Given the description of an element on the screen output the (x, y) to click on. 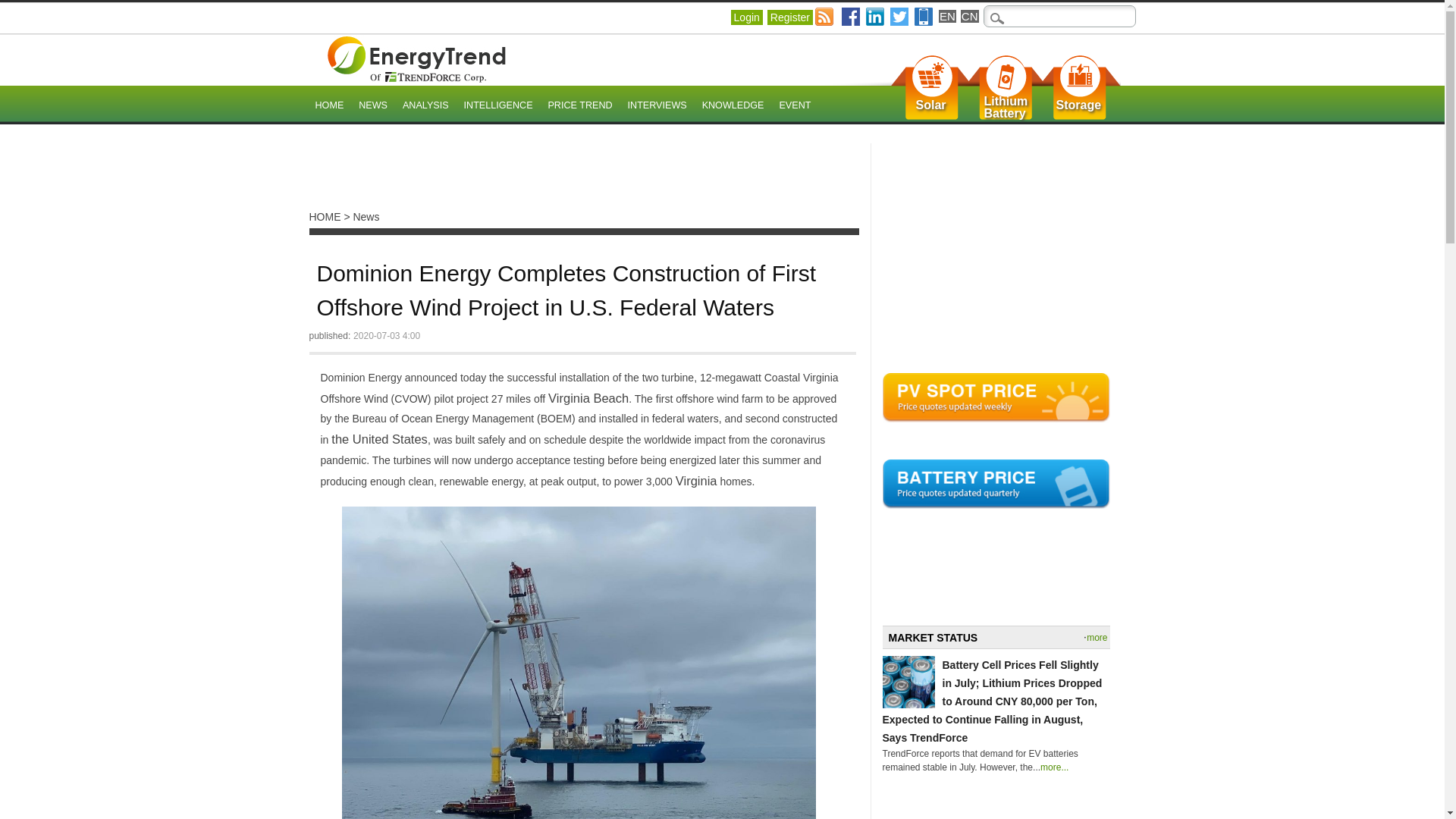
Register (789, 17)
Solar (930, 105)
linkedin (874, 16)
3rd party ad content (584, 177)
Login (1005, 107)
Storage (746, 17)
HOME (1077, 105)
twitter (329, 105)
mobile (898, 16)
KNOWLEDGE (923, 16)
PRICE TREND (732, 105)
Storage (579, 105)
Lithium Battery (1077, 105)
CN (1005, 107)
